Given the description of an element on the screen output the (x, y) to click on. 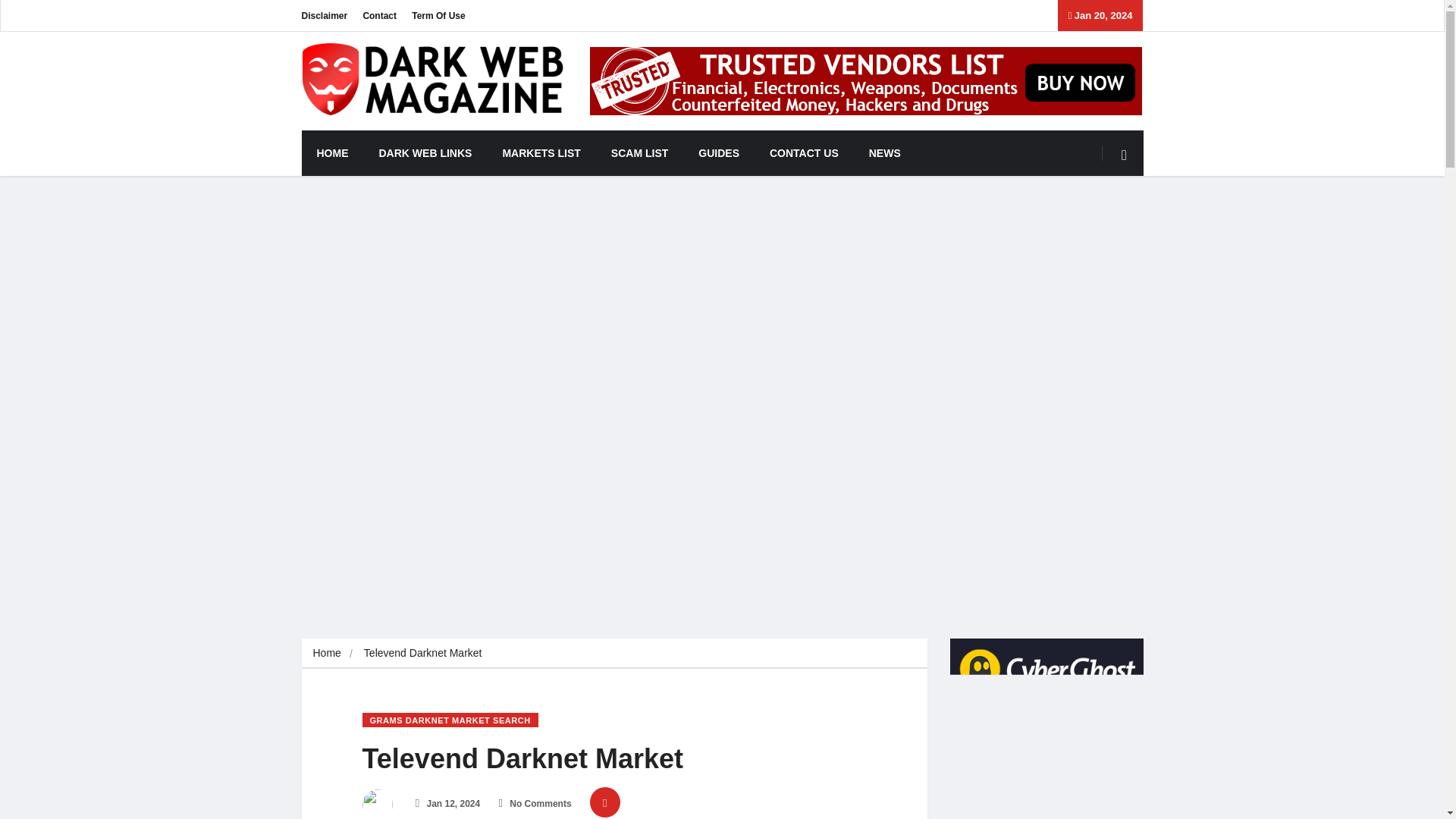
Disclaimer (324, 15)
GRAMS DARKNET MARKET SEARCH (450, 719)
Contact (379, 15)
Term Of Use (438, 15)
NEWS (884, 153)
HOME (332, 153)
MARKETS LIST (540, 153)
DARK WEB LINKS (425, 153)
CONTACT US (803, 153)
GUIDES (718, 153)
